Given the description of an element on the screen output the (x, y) to click on. 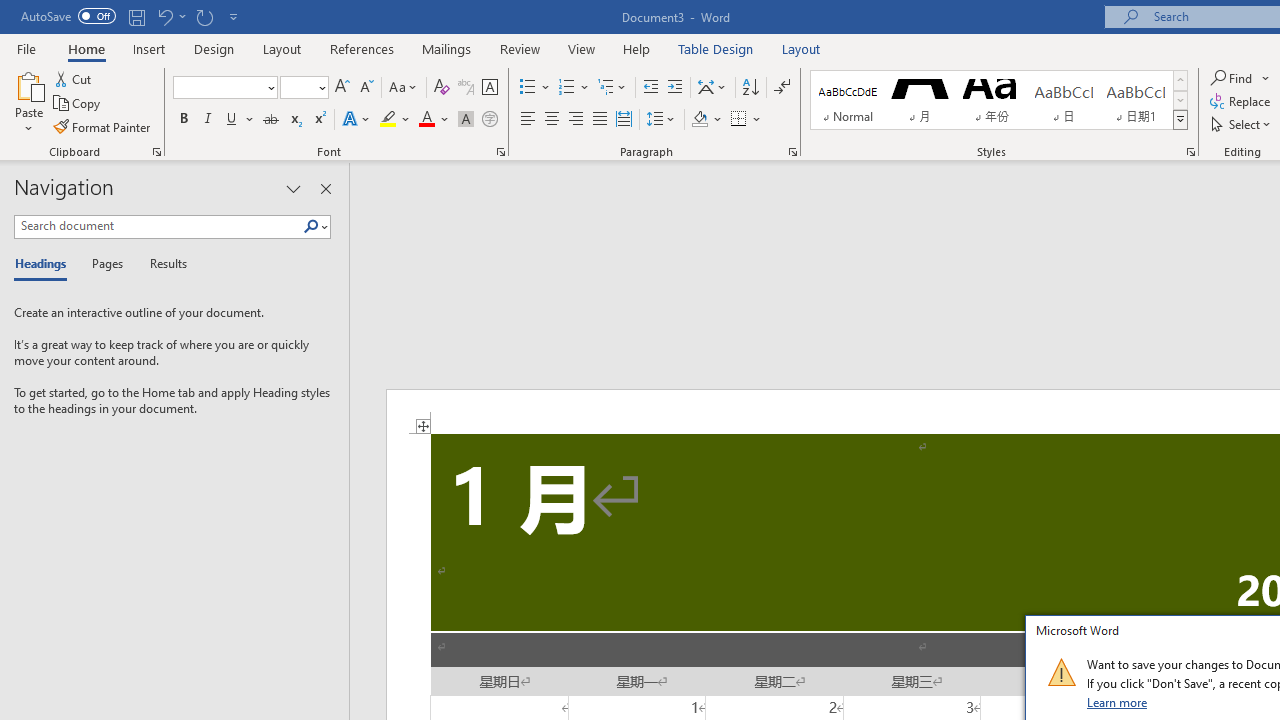
Font (218, 87)
Clear Formatting (442, 87)
Task Pane Options (293, 188)
Borders (739, 119)
Review (520, 48)
Insert (149, 48)
Text Highlight Color (395, 119)
Character Border (489, 87)
Shrink Font (365, 87)
Font Color (434, 119)
Class: NetUIImage (1061, 671)
Font (224, 87)
Font Size (297, 87)
